Given the description of an element on the screen output the (x, y) to click on. 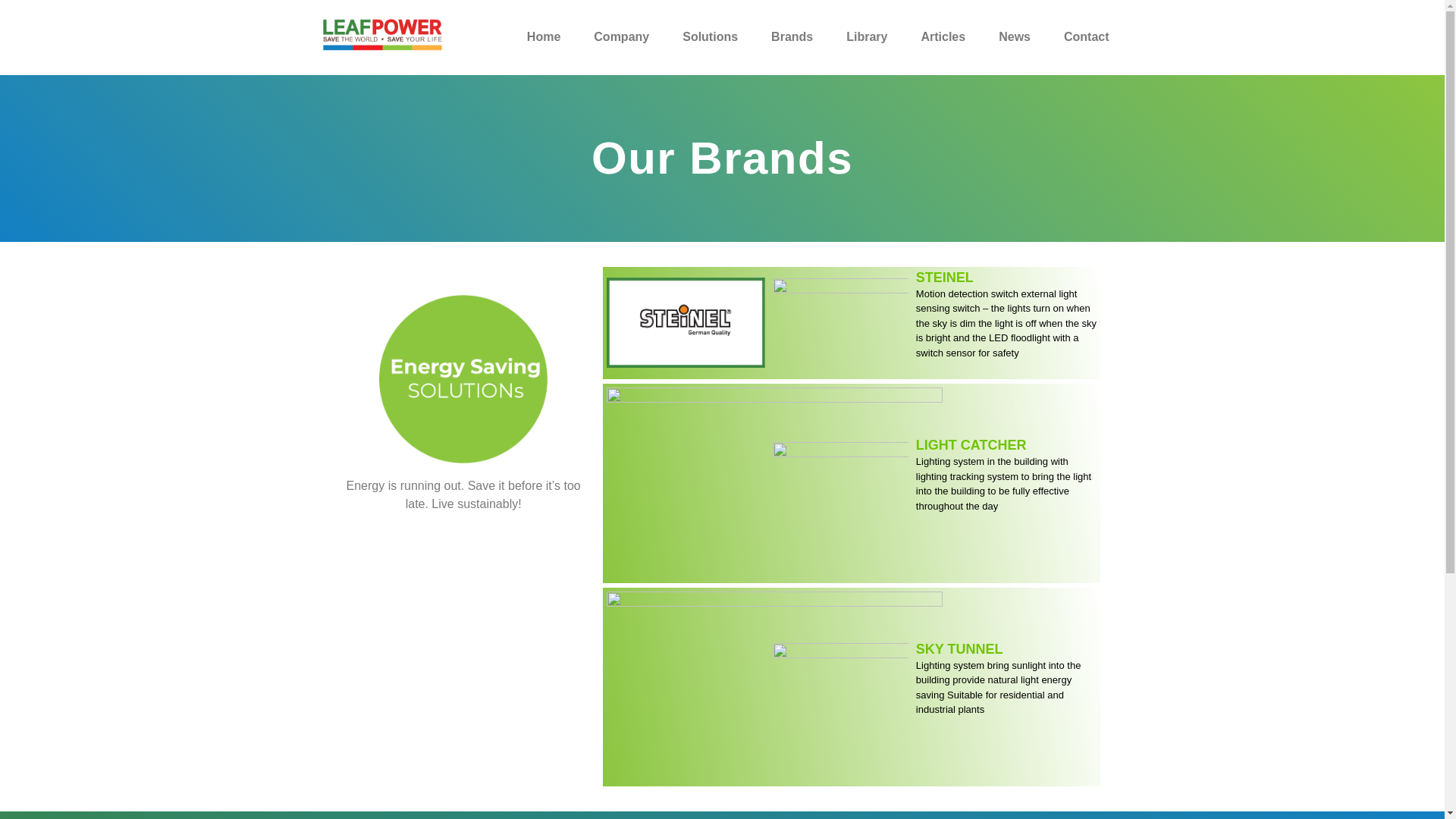
Articles (942, 37)
Contact (1086, 37)
Brands (791, 37)
Home (543, 37)
News (1014, 37)
Library (865, 37)
Company (621, 37)
Solutions (710, 37)
